Given the description of an element on the screen output the (x, y) to click on. 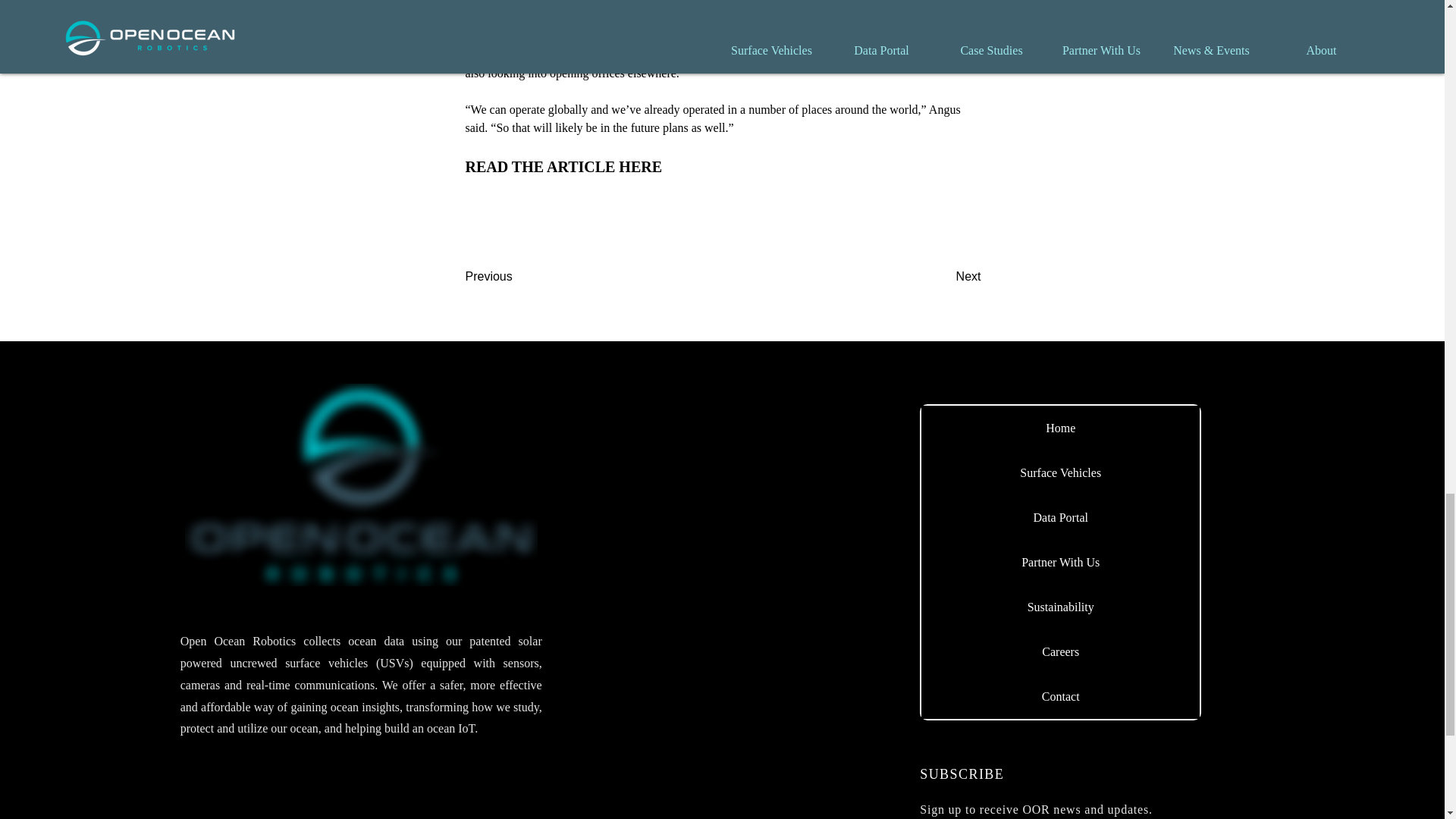
Home (1060, 427)
Previous (515, 276)
Contact (1060, 696)
Sustainability (1060, 606)
Data Portal (1060, 517)
Partner With Us (1060, 561)
Surface Vehicles (1060, 472)
Careers (1060, 651)
Next (943, 276)
